Given the description of an element on the screen output the (x, y) to click on. 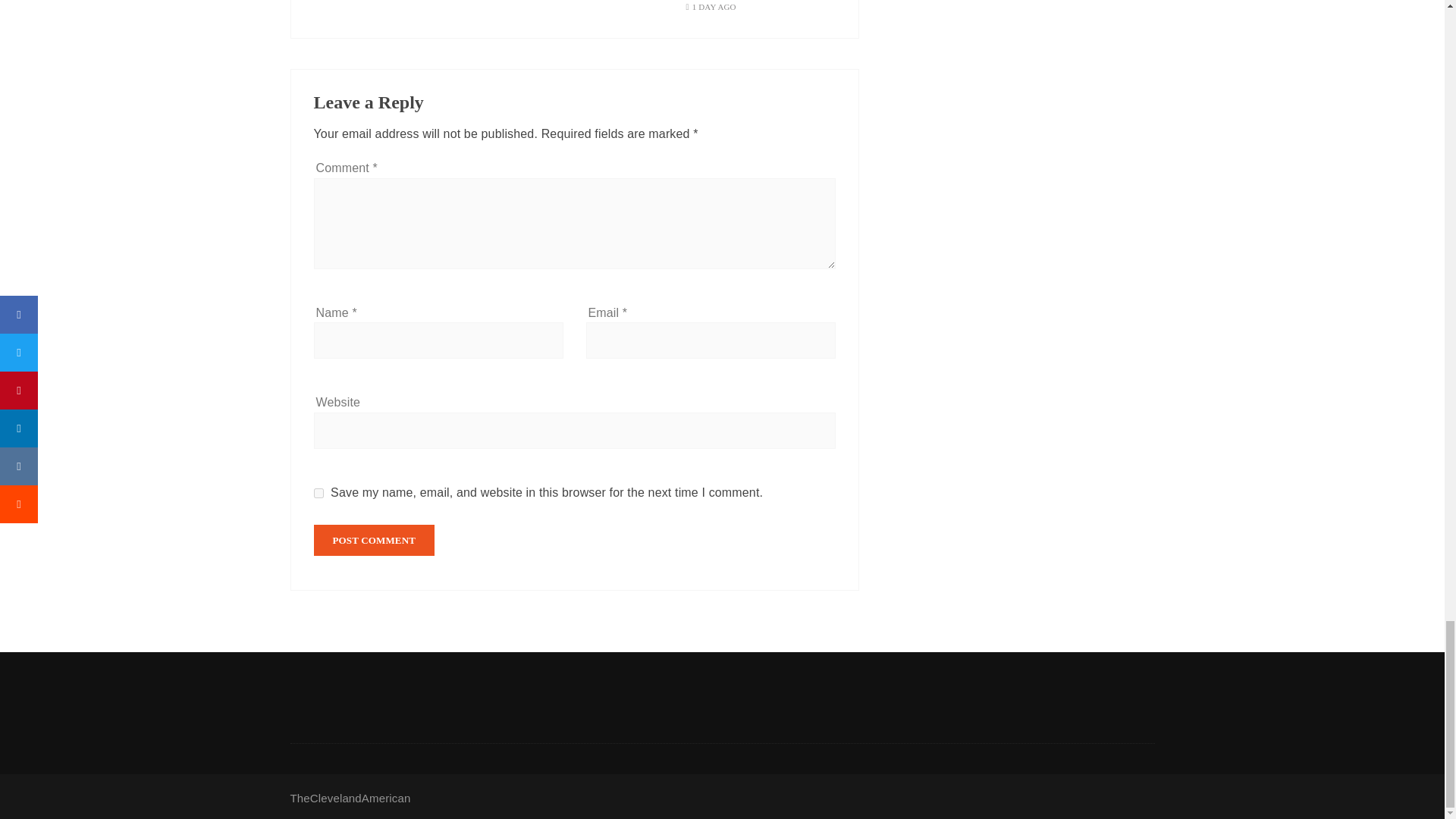
yes (318, 492)
Post Comment (374, 540)
